Given the description of an element on the screen output the (x, y) to click on. 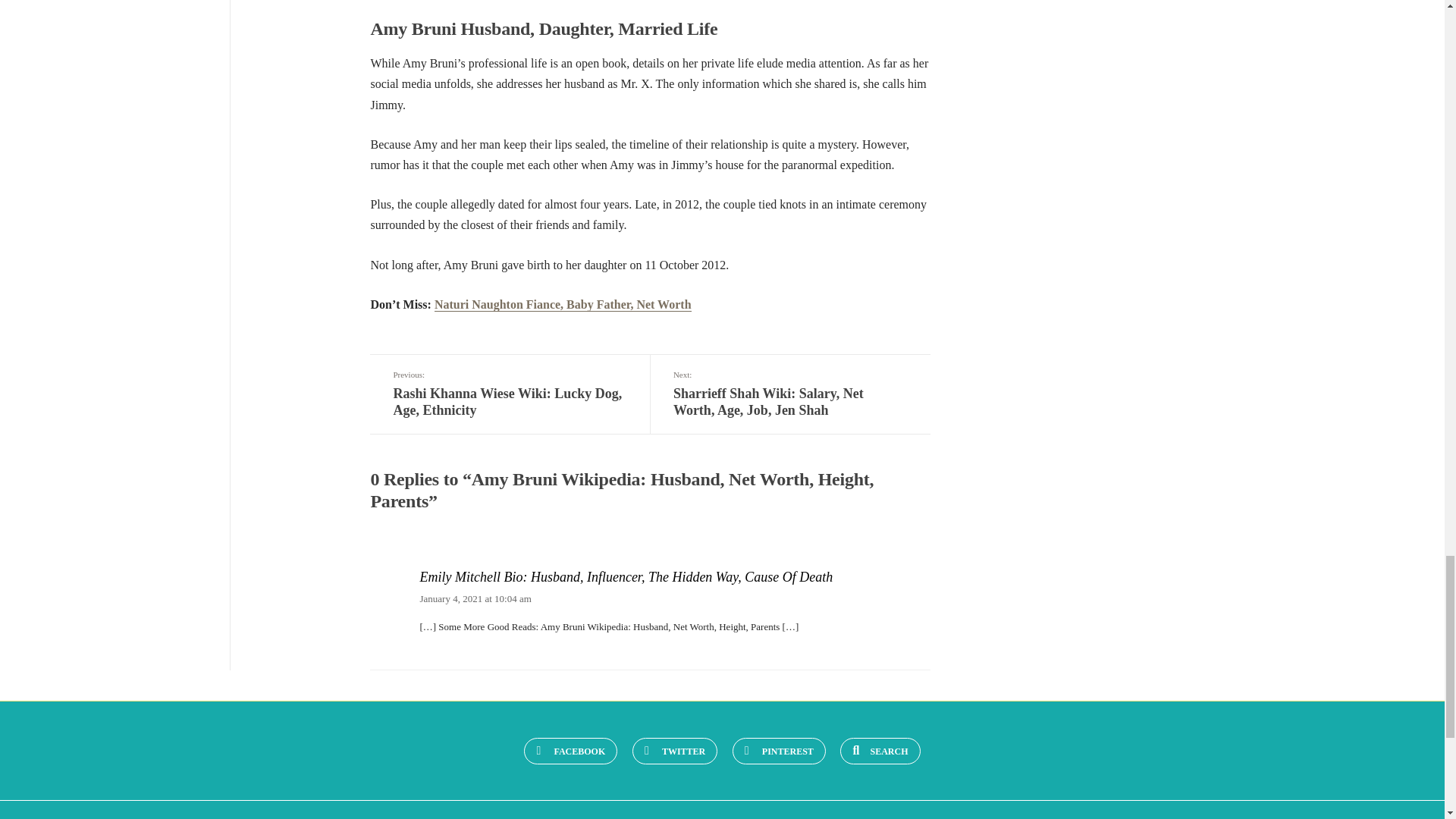
FACEBOOK (570, 750)
Pinterest (778, 750)
SEARCH (880, 750)
TWITTER (674, 750)
Naturi Naughton Fiance, Baby Father, Net Worth (562, 305)
January 4, 2021 at 10:04 am (475, 598)
PINTEREST (778, 750)
